Given the description of an element on the screen output the (x, y) to click on. 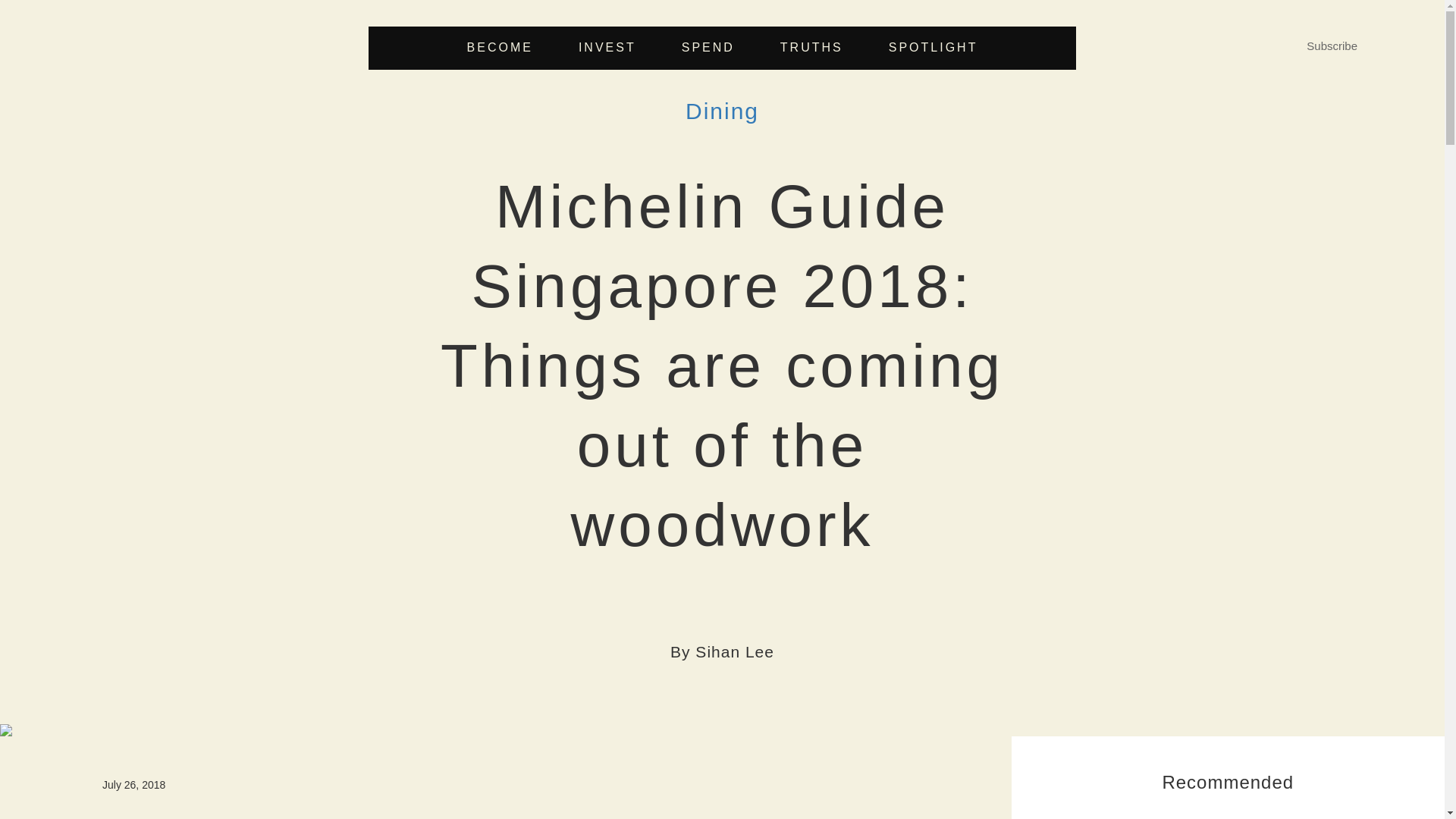
INVEST (606, 48)
BECOME (500, 48)
Subscribe (1331, 45)
Search (861, 406)
